Given the description of an element on the screen output the (x, y) to click on. 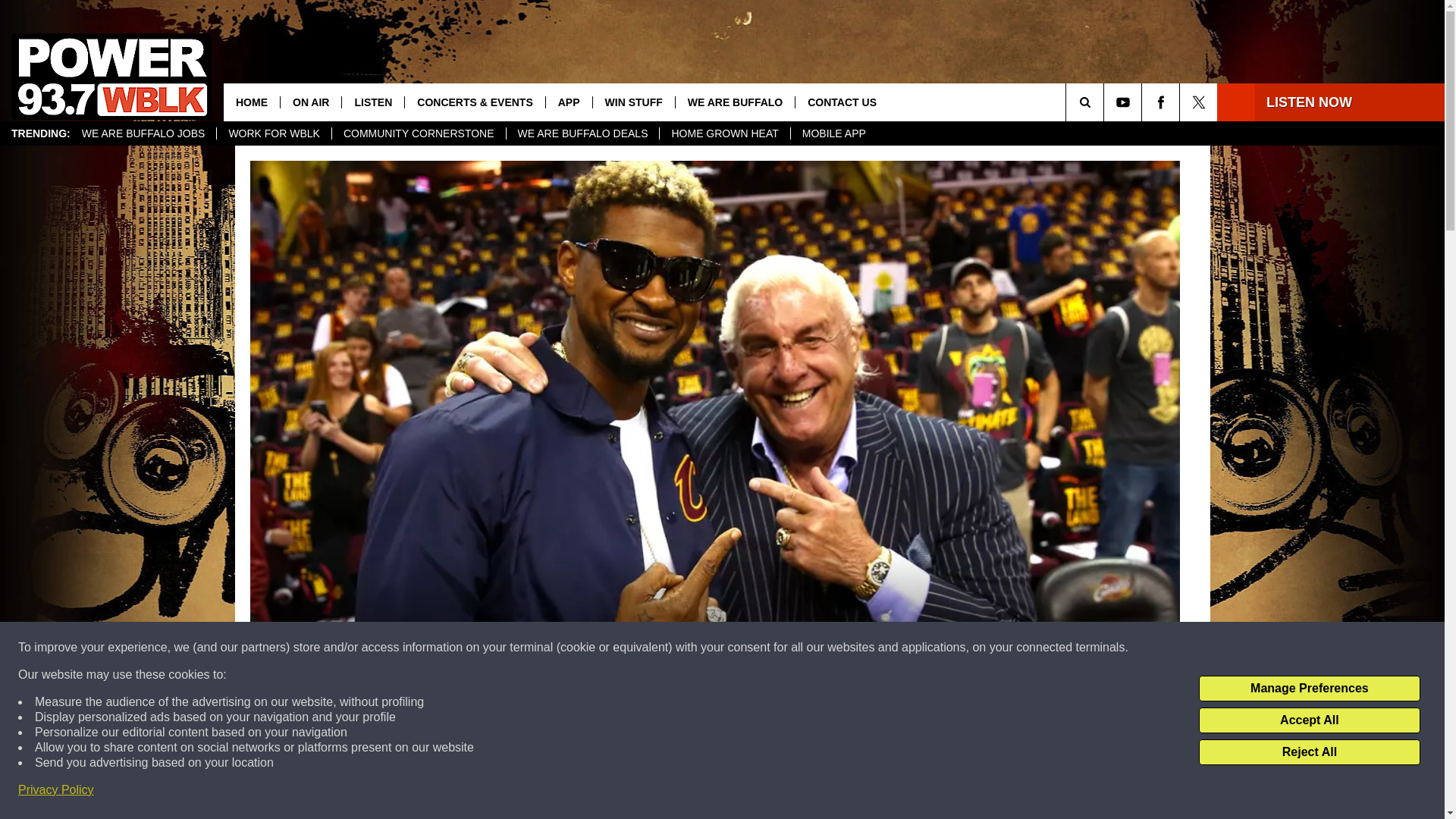
Privacy Policy (55, 789)
HOME (251, 102)
WORK FOR WBLK (273, 133)
Accept All (1309, 720)
WE ARE BUFFALO DEALS (582, 133)
SEARCH (1106, 102)
APP (568, 102)
WE ARE BUFFALO JOBS (142, 133)
SEARCH (1106, 102)
MOBILE APP (833, 133)
CONTACT US (841, 102)
WE ARE BUFFALO (734, 102)
Share on Facebook (517, 791)
ON AIR (309, 102)
Reject All (1309, 751)
